Given the description of an element on the screen output the (x, y) to click on. 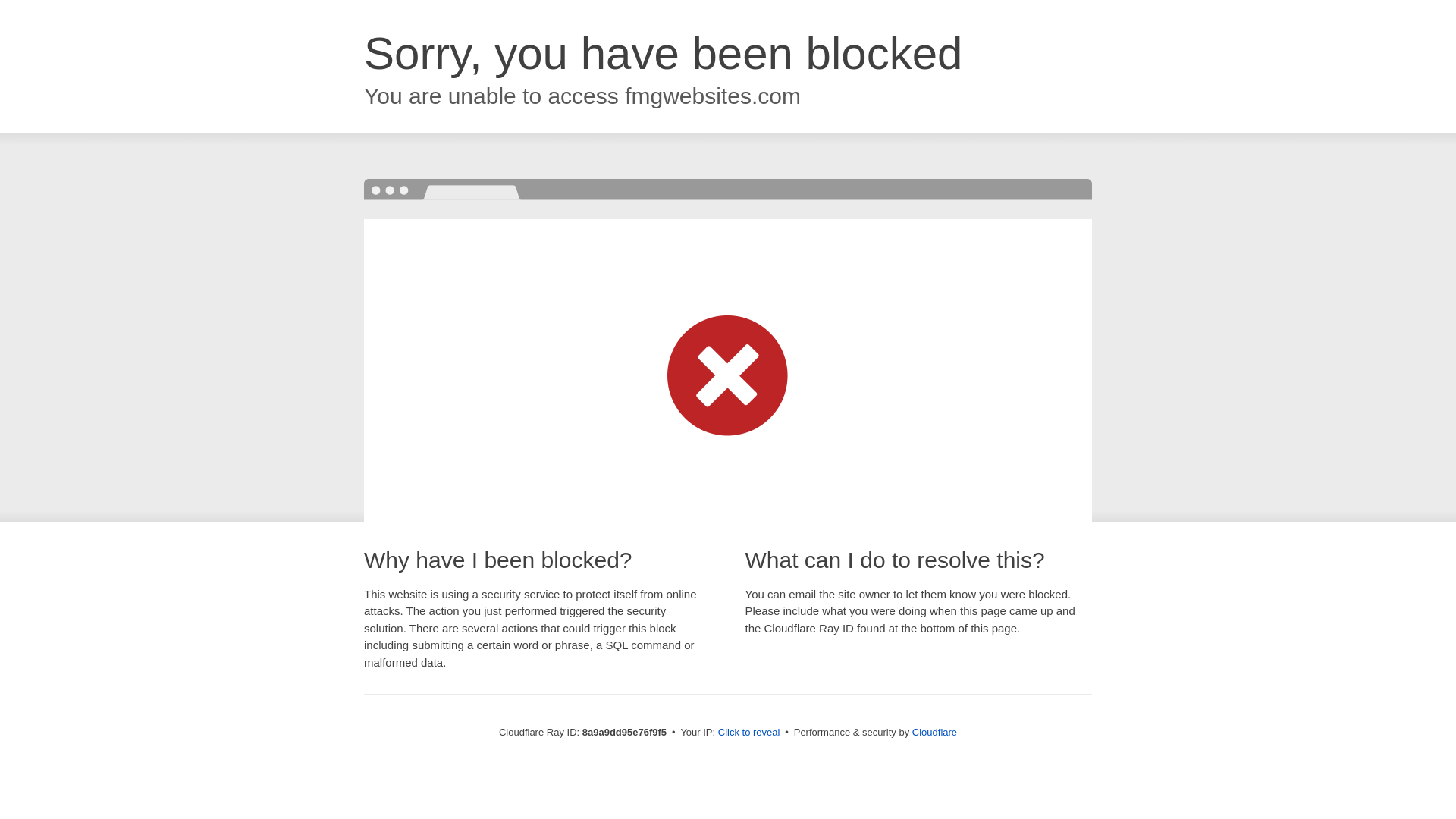
Cloudflare (934, 731)
Click to reveal (748, 732)
